Given the description of an element on the screen output the (x, y) to click on. 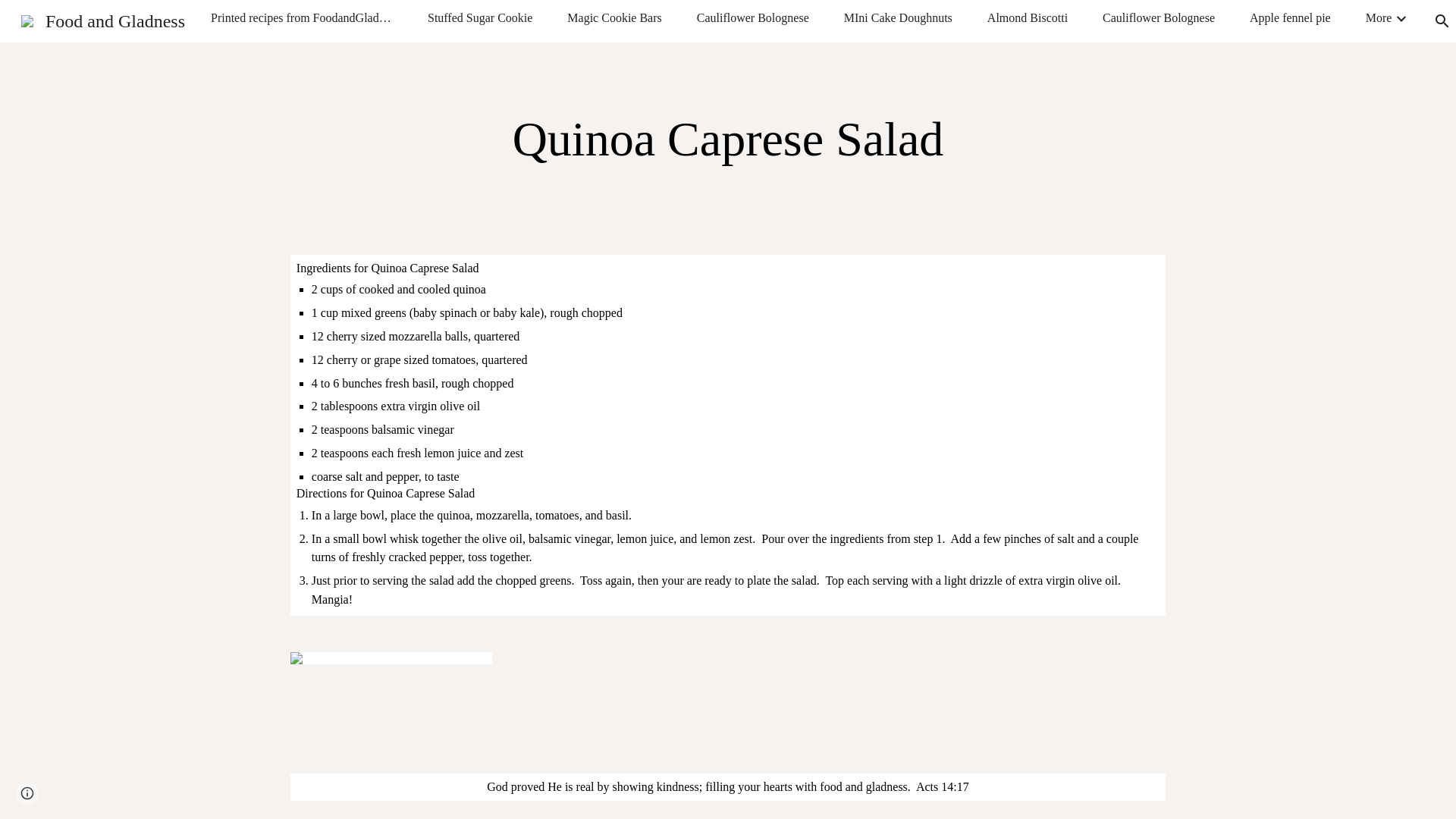
Printed recipes from FoodandGladness.com (302, 17)
